Given the description of an element on the screen output the (x, y) to click on. 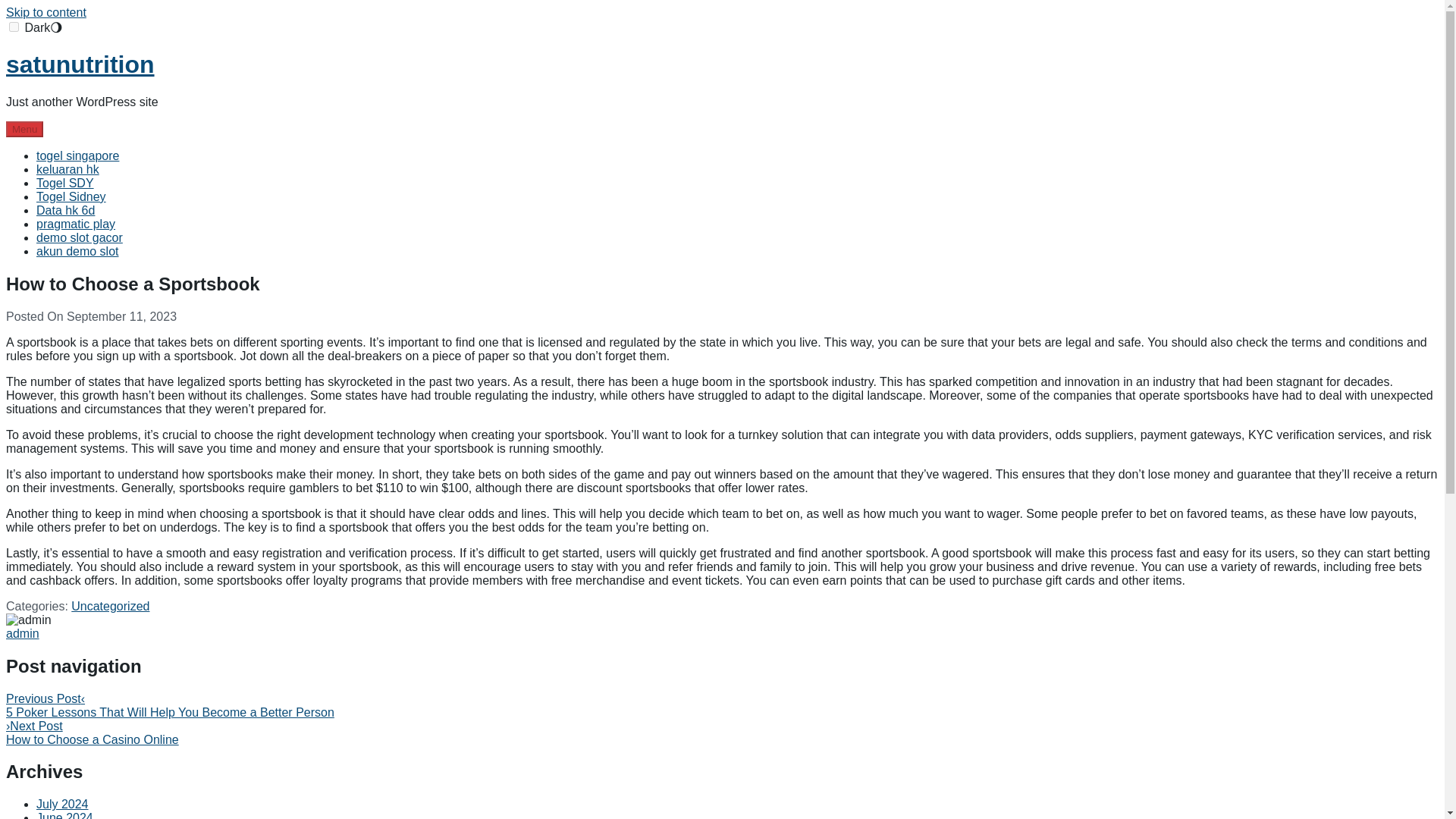
keluaran hk (67, 169)
pragmatic play (75, 223)
togel singapore (77, 155)
akun demo slot (77, 250)
satunutrition (79, 63)
July 2024 (62, 803)
June 2024 (64, 815)
Data hk 6d (65, 210)
Skip to content (45, 11)
demo slot gacor (79, 237)
on (13, 26)
Menu (24, 129)
Togel Sidney (71, 196)
Uncategorized (110, 605)
admin (22, 633)
